Given the description of an element on the screen output the (x, y) to click on. 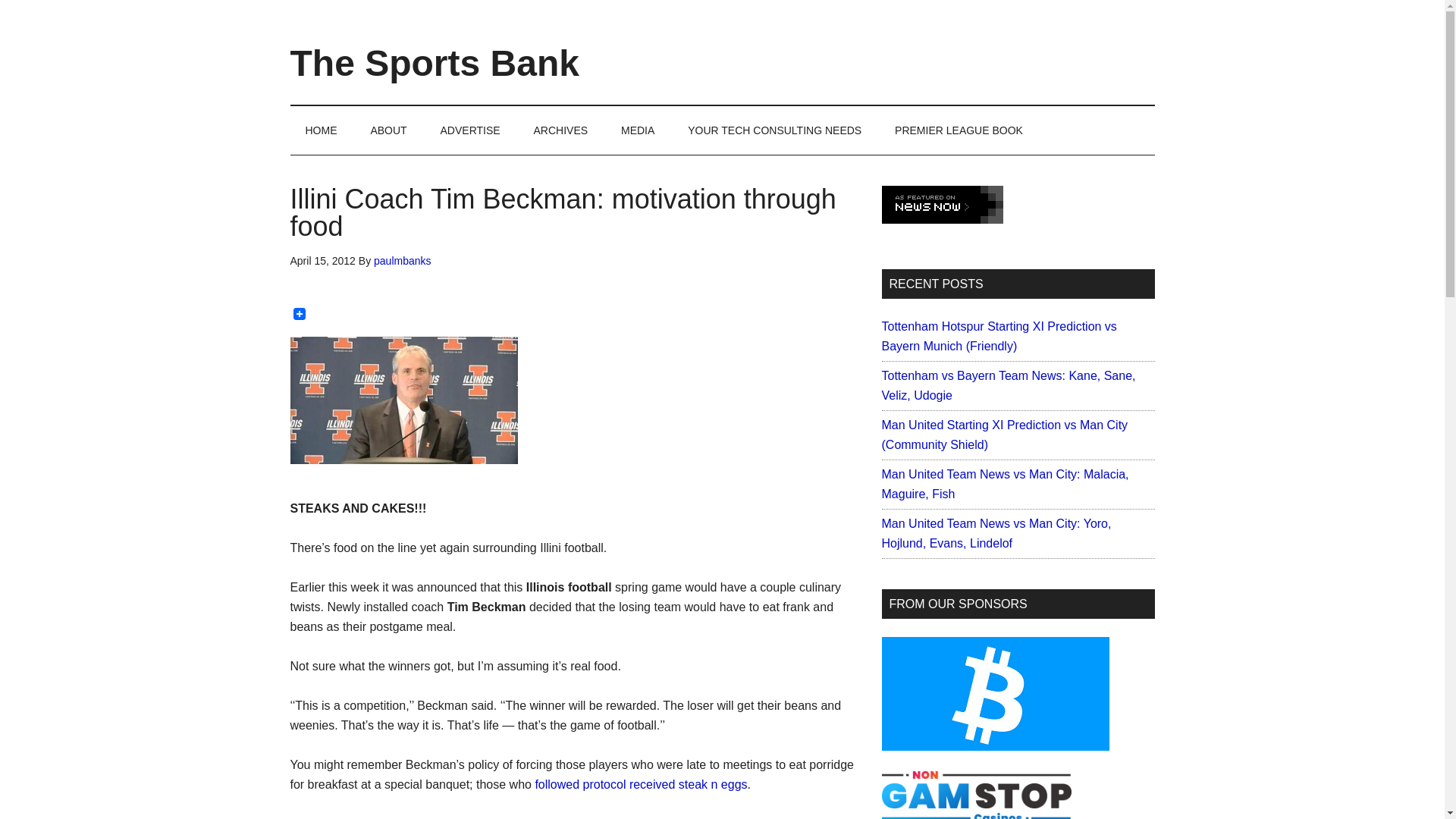
YOUR TECH CONSULTING NEEDS (774, 130)
ARCHIVES (561, 130)
tim-beckman (402, 400)
HOME (320, 130)
PREMIER LEAGUE BOOK (958, 130)
ADVERTISE (470, 130)
The Sports Bank (433, 63)
followed protocol received steak n eggs (640, 784)
paulmbanks (402, 260)
ABOUT (388, 130)
MEDIA (637, 130)
